Given the description of an element on the screen output the (x, y) to click on. 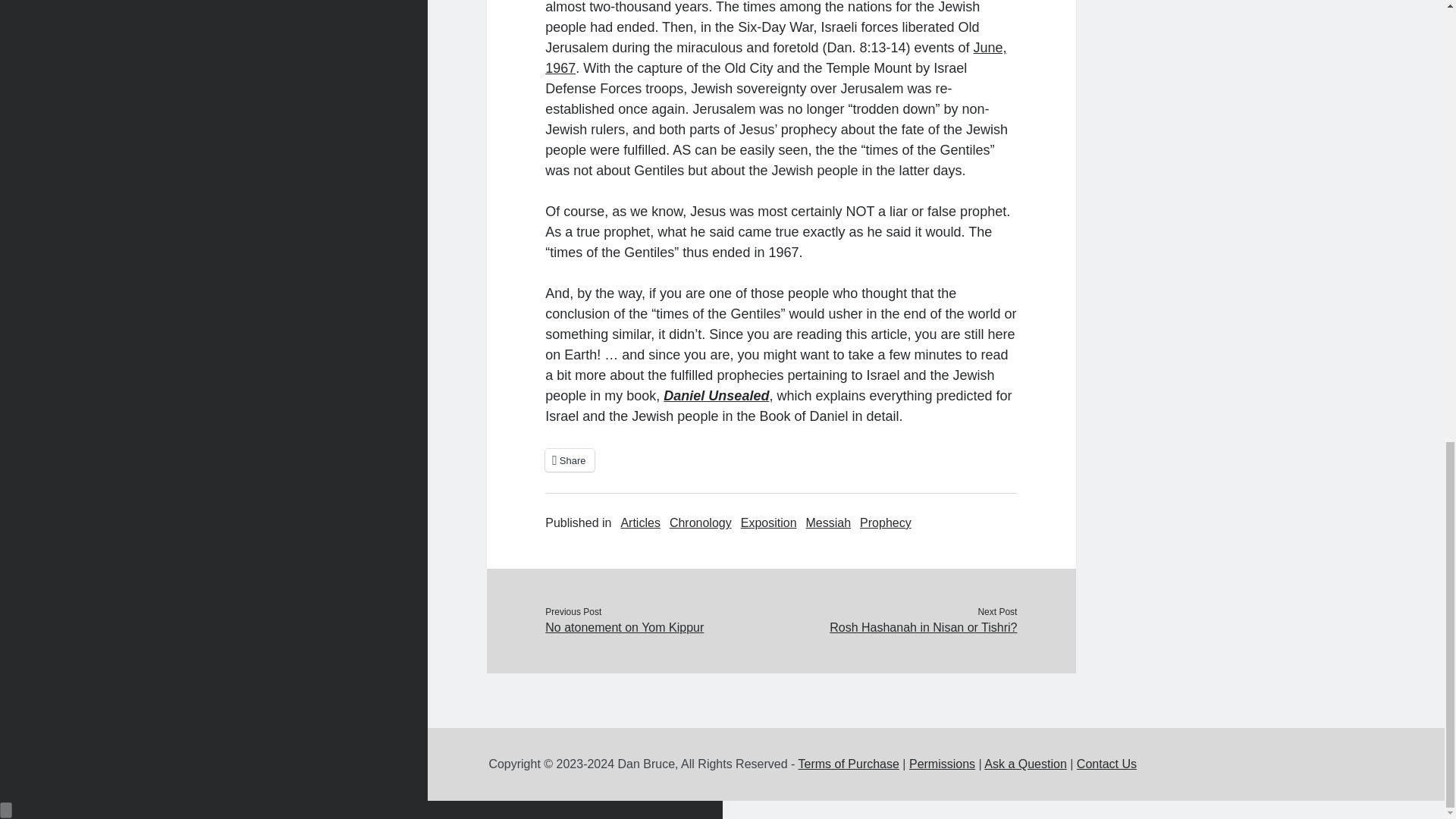
Chronology (700, 523)
View all posts in Exposition (768, 523)
Articles (639, 523)
Exposition (768, 523)
June, 1967 (775, 58)
PDF File - Liberation of Jerusalem 1967 (775, 58)
Scroll to the top (5, 810)
View all posts in Prophecy (885, 523)
Share (569, 459)
View all posts in Articles (639, 523)
Daniel Unsealed (715, 395)
View all posts in Chronology (700, 523)
View all posts in Messiah (828, 523)
